Given the description of an element on the screen output the (x, y) to click on. 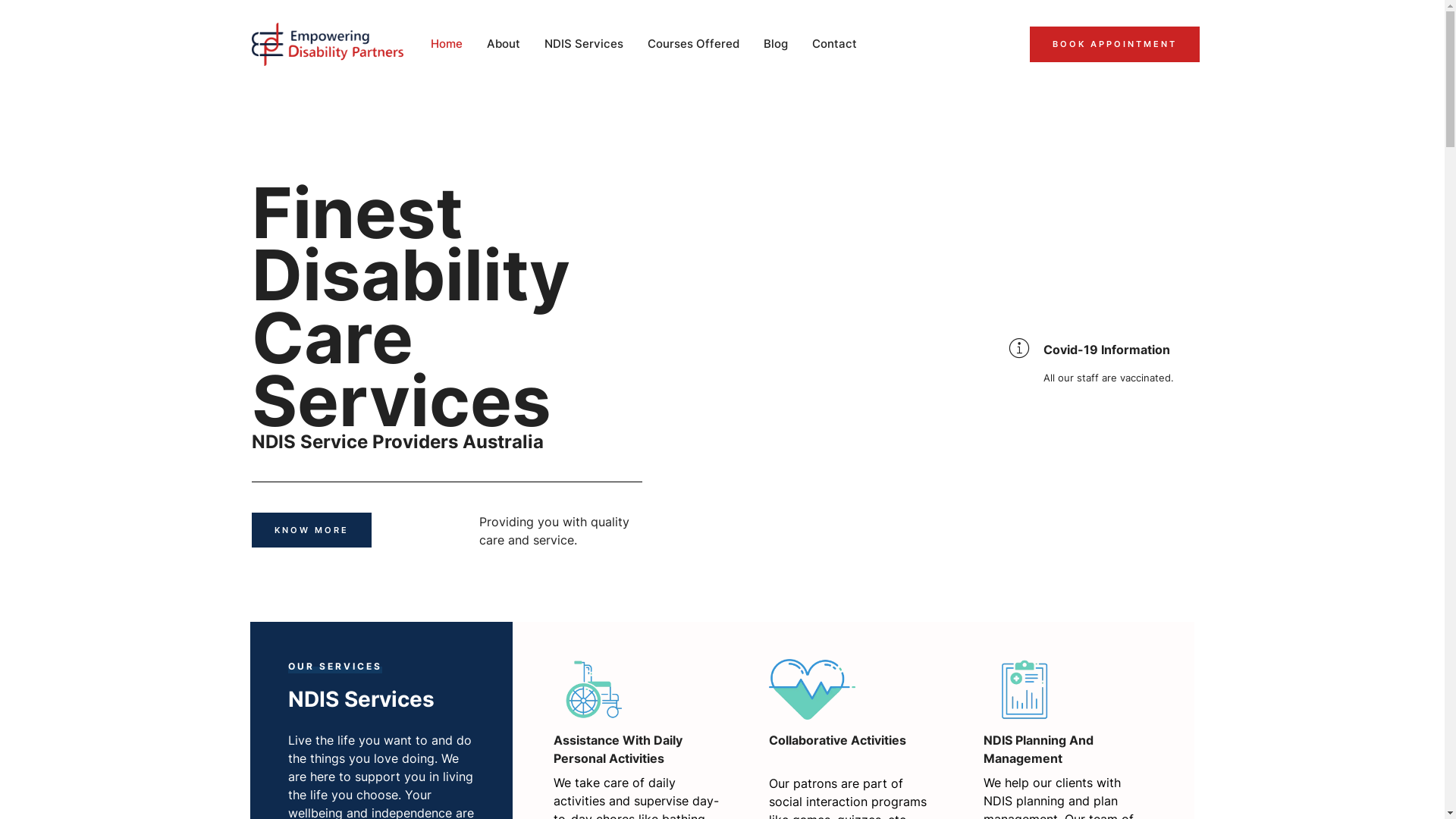
Collaborative Activities Element type: text (837, 739)
NDIS Services Element type: text (586, 43)
Contact Element type: text (836, 43)
Blog Element type: text (777, 43)
Courses Offered Element type: text (696, 43)
Home 2 Element type: hover (811, 688)
BOOK APPOINTMENT Element type: text (1114, 44)
Home 3 Element type: hover (1026, 688)
About Element type: text (506, 43)
Home Element type: text (449, 43)
Assistance With Daily Personal Activities Element type: text (617, 748)
KNOW MORE Element type: text (311, 530)
Home 1 Element type: hover (596, 688)
NDIS Planning And Management Element type: text (1038, 748)
